Given the description of an element on the screen output the (x, y) to click on. 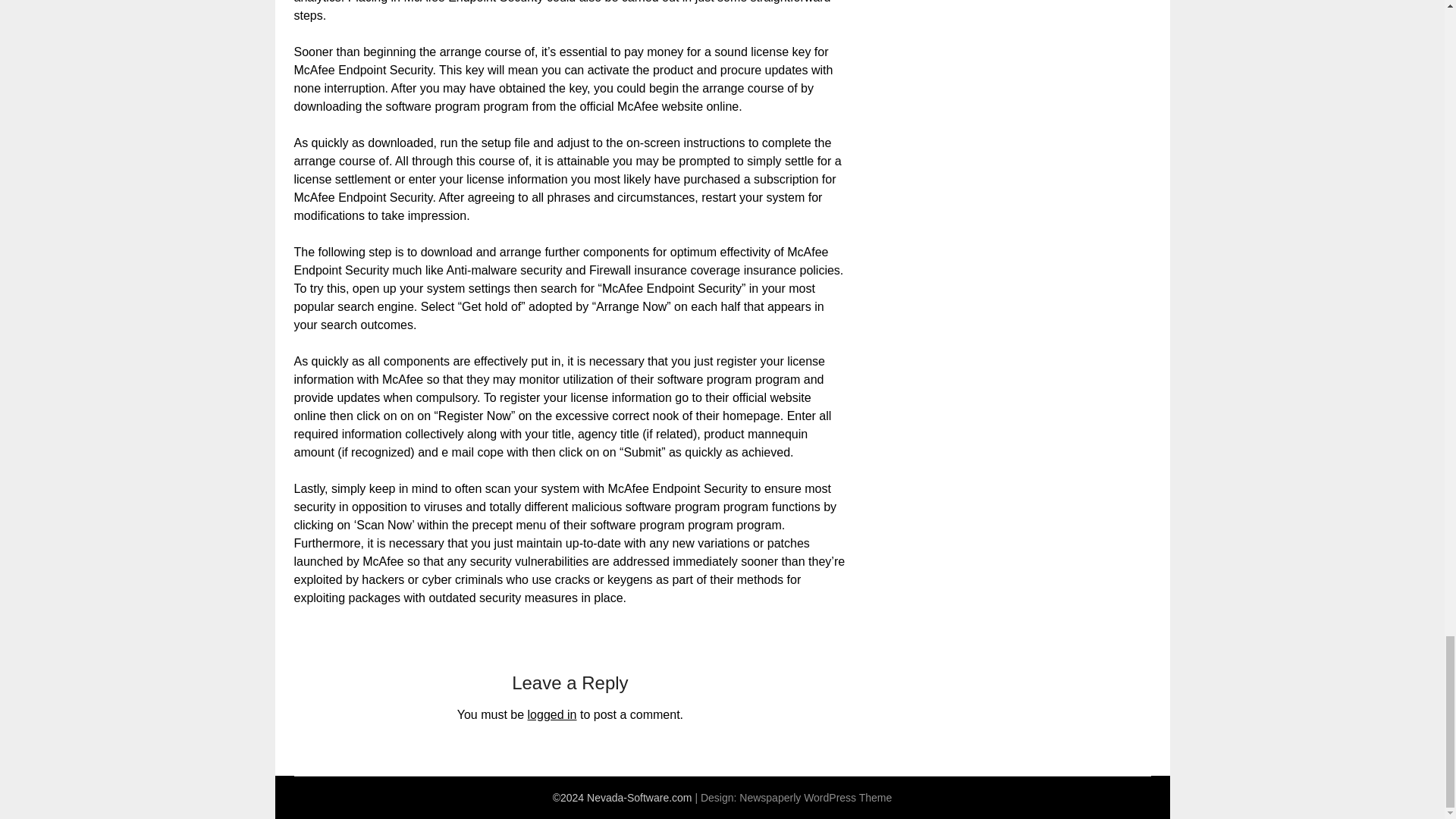
Newspaperly WordPress Theme (815, 797)
logged in (551, 714)
